Given the description of an element on the screen output the (x, y) to click on. 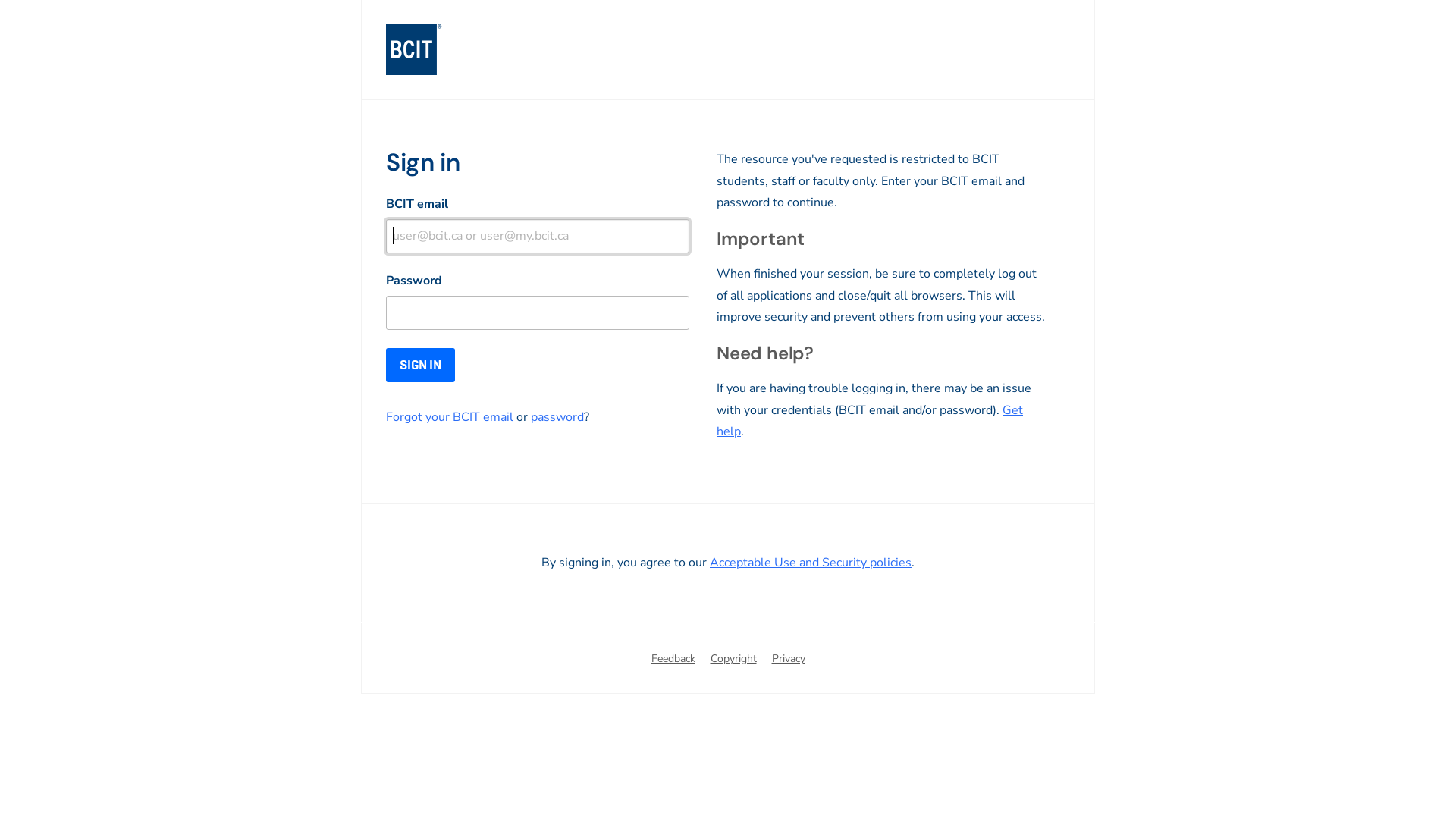
Feedback Element type: text (672, 658)
Acceptable Use and Security policies Element type: text (810, 561)
password Element type: text (556, 416)
Forgot your BCIT email Element type: text (449, 416)
Sign in Element type: text (420, 365)
Privacy Element type: text (788, 658)
Copyright Element type: text (732, 658)
Get help Element type: text (869, 420)
